Given the description of an element on the screen output the (x, y) to click on. 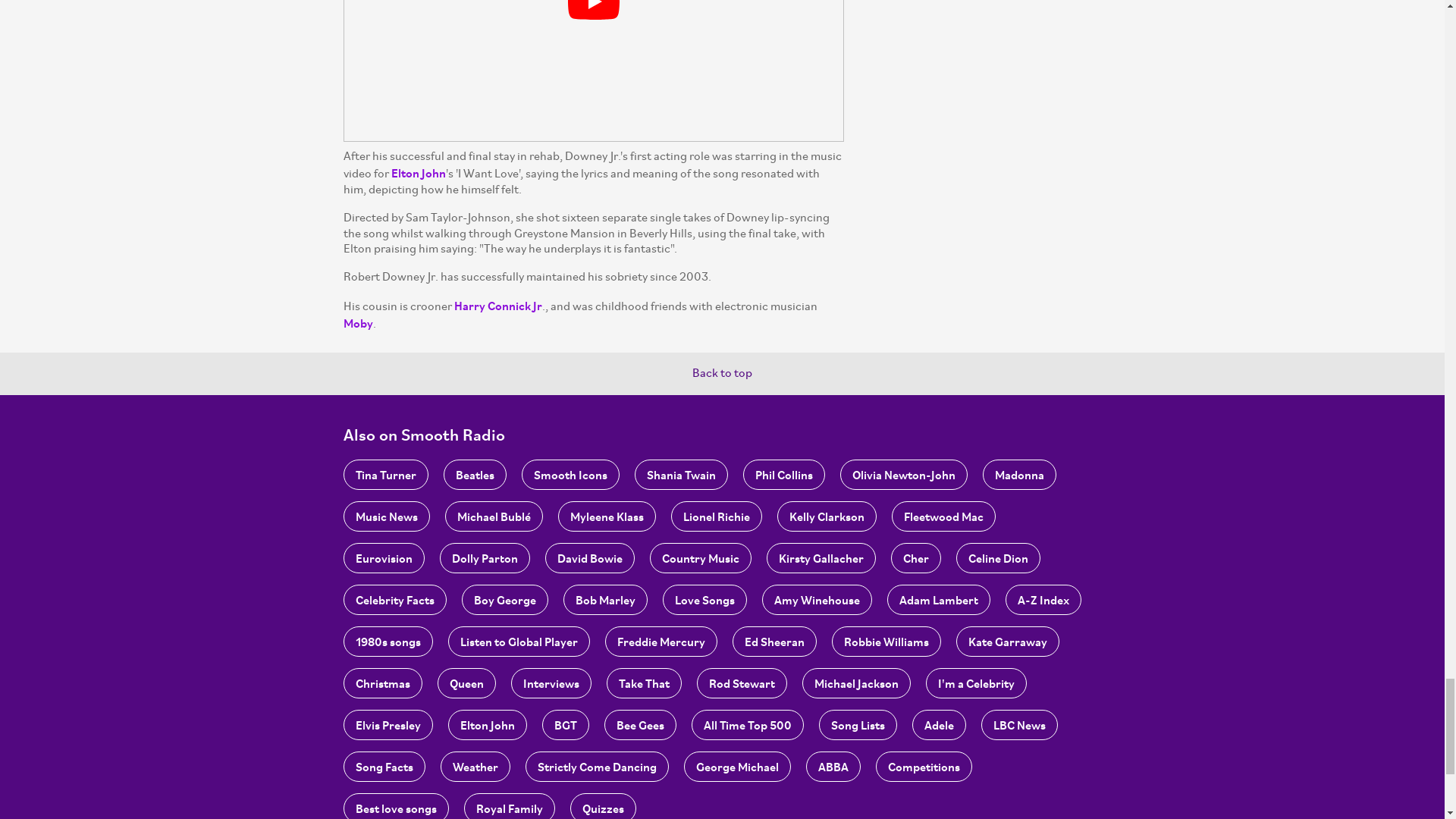
Back to top (722, 373)
